Given the description of an element on the screen output the (x, y) to click on. 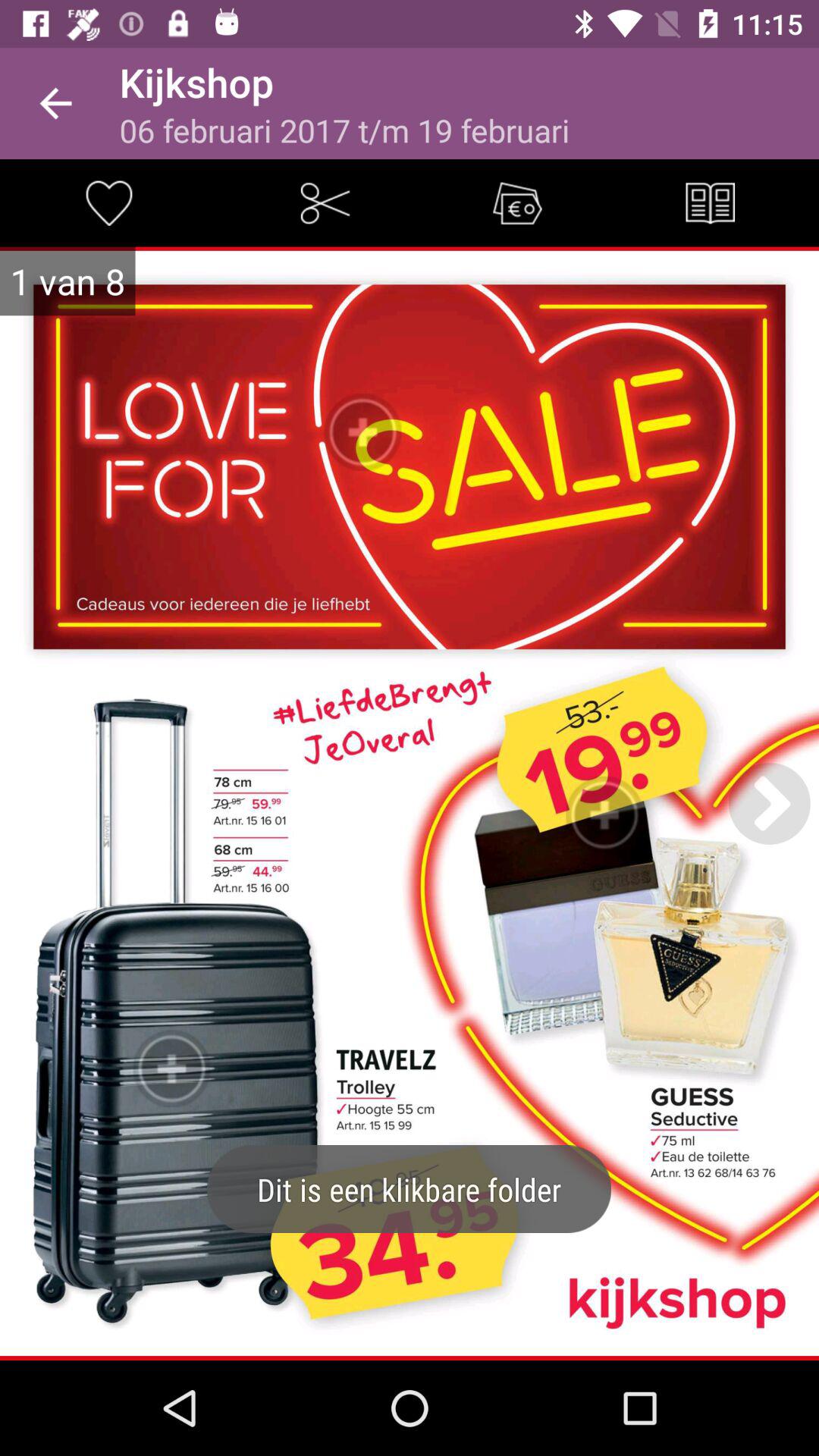
cupons (517, 202)
